Given the description of an element on the screen output the (x, y) to click on. 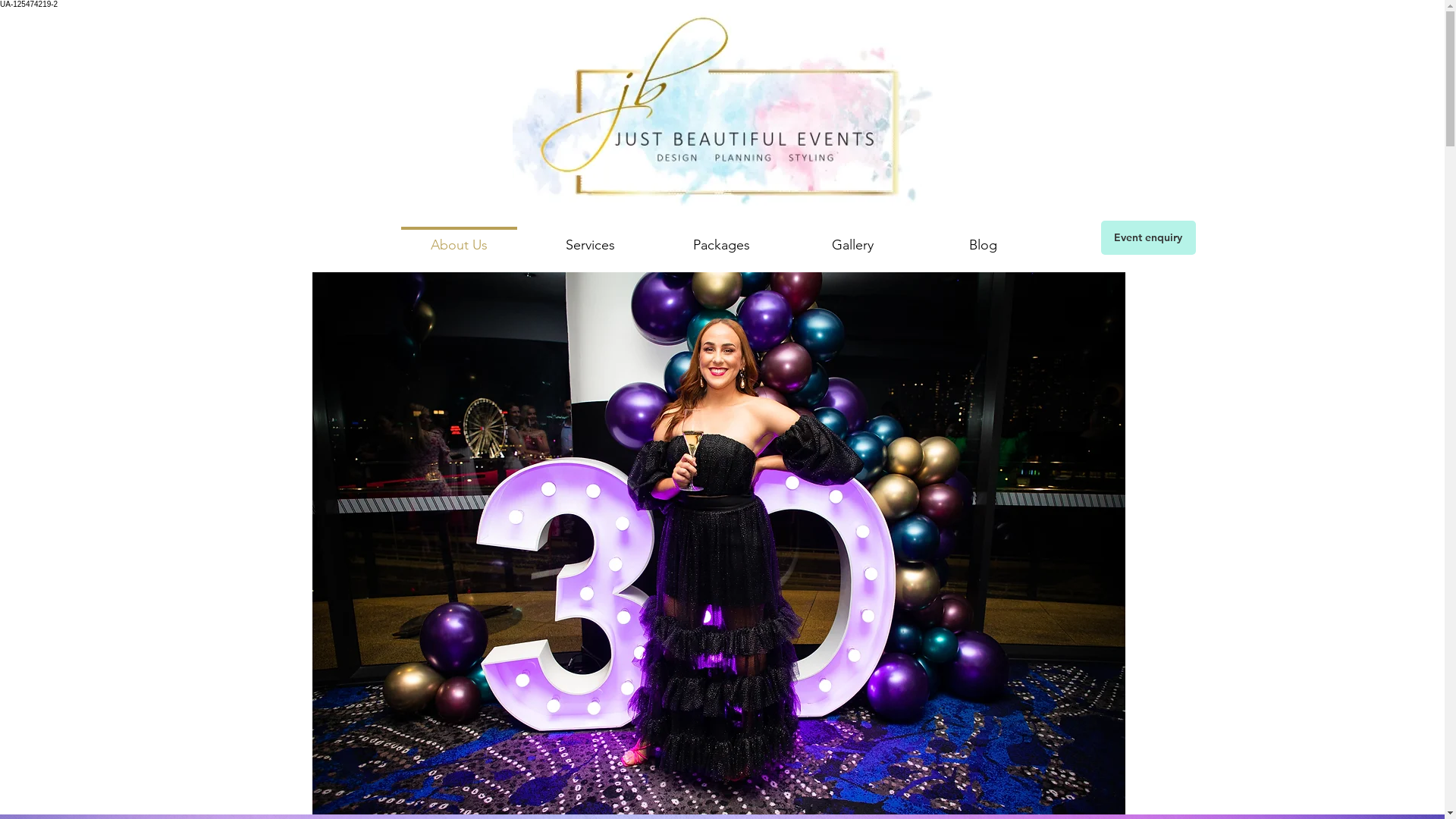
About Us Element type: text (458, 237)
Blog Element type: text (982, 237)
Packages Element type: text (720, 237)
Services Element type: text (589, 237)
just-beautiful-165.jpg Element type: hover (718, 543)
Gallery Element type: text (852, 237)
Event enquiry Element type: text (1148, 237)
